Given the description of an element on the screen output the (x, y) to click on. 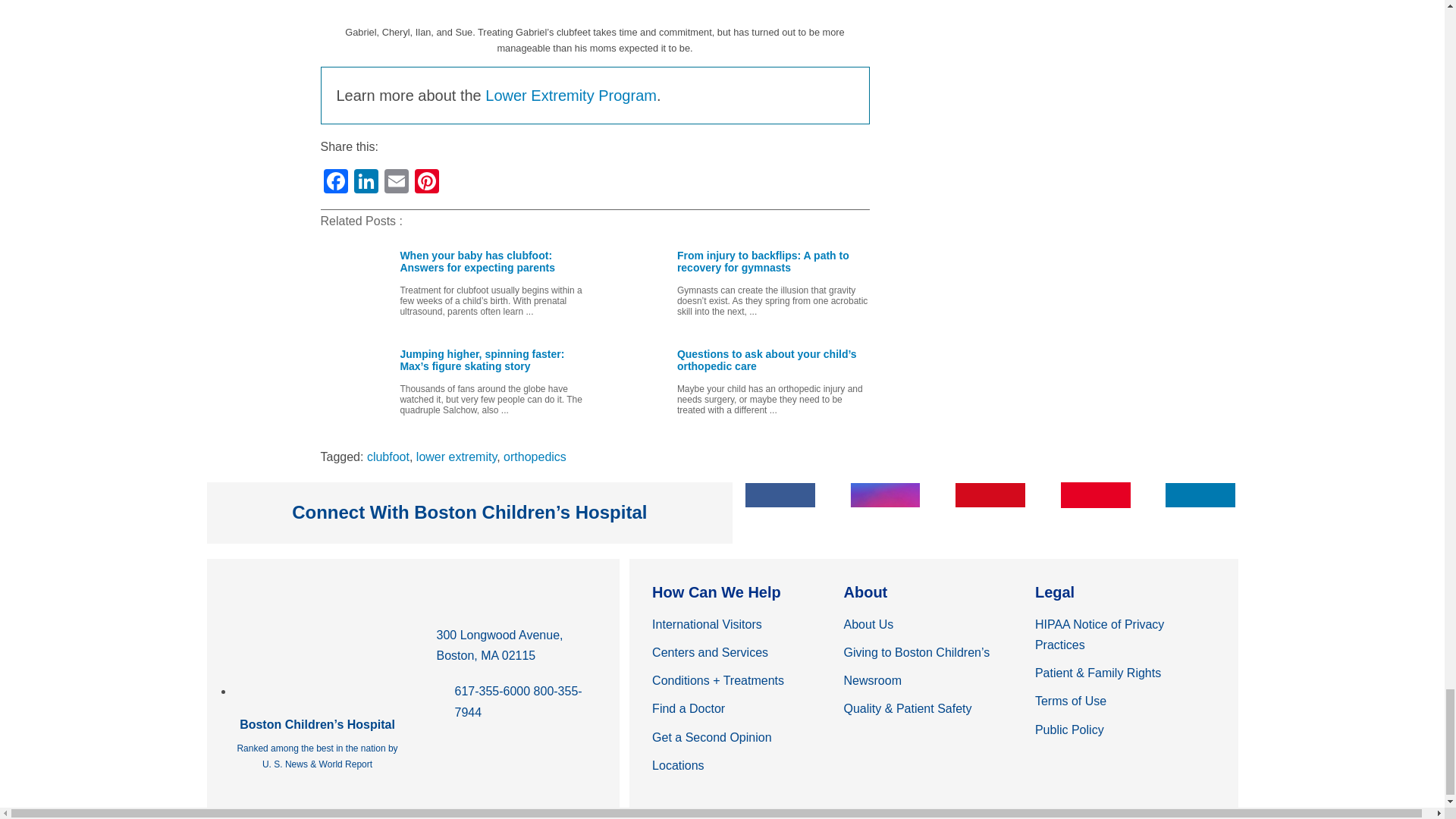
Pinterest (425, 182)
Facebook (335, 182)
Email (395, 182)
LinkedIn (365, 182)
From injury to backflips: A path to recovery for gymnasts (735, 282)
When your baby has clubfoot: Answers for expecting parents (459, 282)
Pinterest (425, 182)
Facebook (335, 182)
Lower Extremity Program (570, 95)
Email (395, 182)
LinkedIn (365, 182)
